Given the description of an element on the screen output the (x, y) to click on. 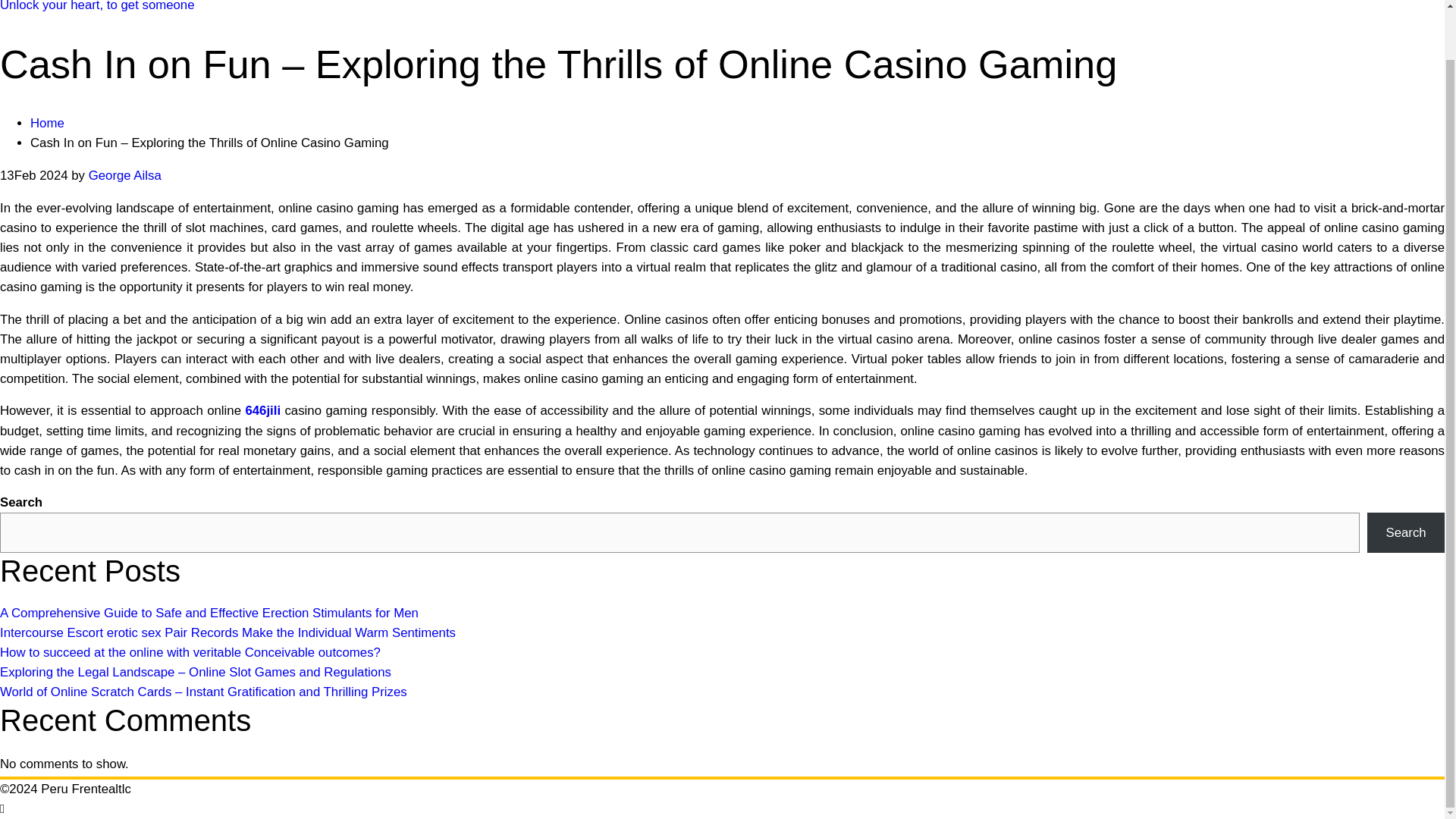
George Ailsa (124, 175)
Home (47, 123)
Unlock your heart, to get someone (97, 6)
646jili (262, 410)
